Given the description of an element on the screen output the (x, y) to click on. 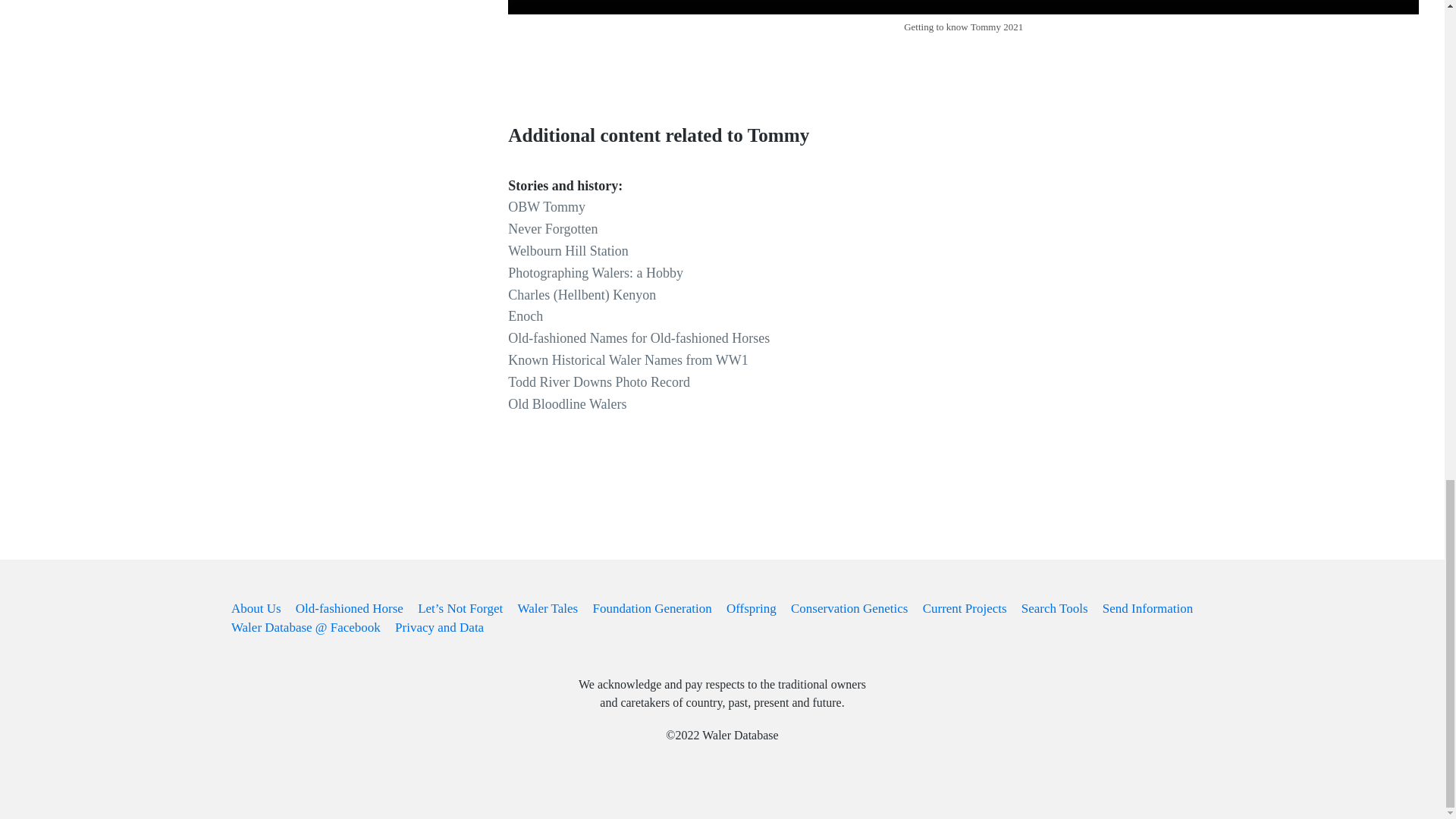
Never Forgotten (552, 228)
Enoch (525, 315)
Photographing Walers: a Hobby (595, 272)
Old Bloodline Walers (567, 403)
Foundation Generation (651, 608)
Welbourn Hill Station (568, 250)
Waler Tales (547, 608)
About Us (256, 608)
Known Historical Waler Names from WW1 (628, 359)
Todd River Downs Photo Record (599, 381)
OBW Tommy (546, 206)
Old-fashioned Horse (349, 608)
Old-fashioned Names for Old-fashioned Horses (639, 337)
